Given the description of an element on the screen output the (x, y) to click on. 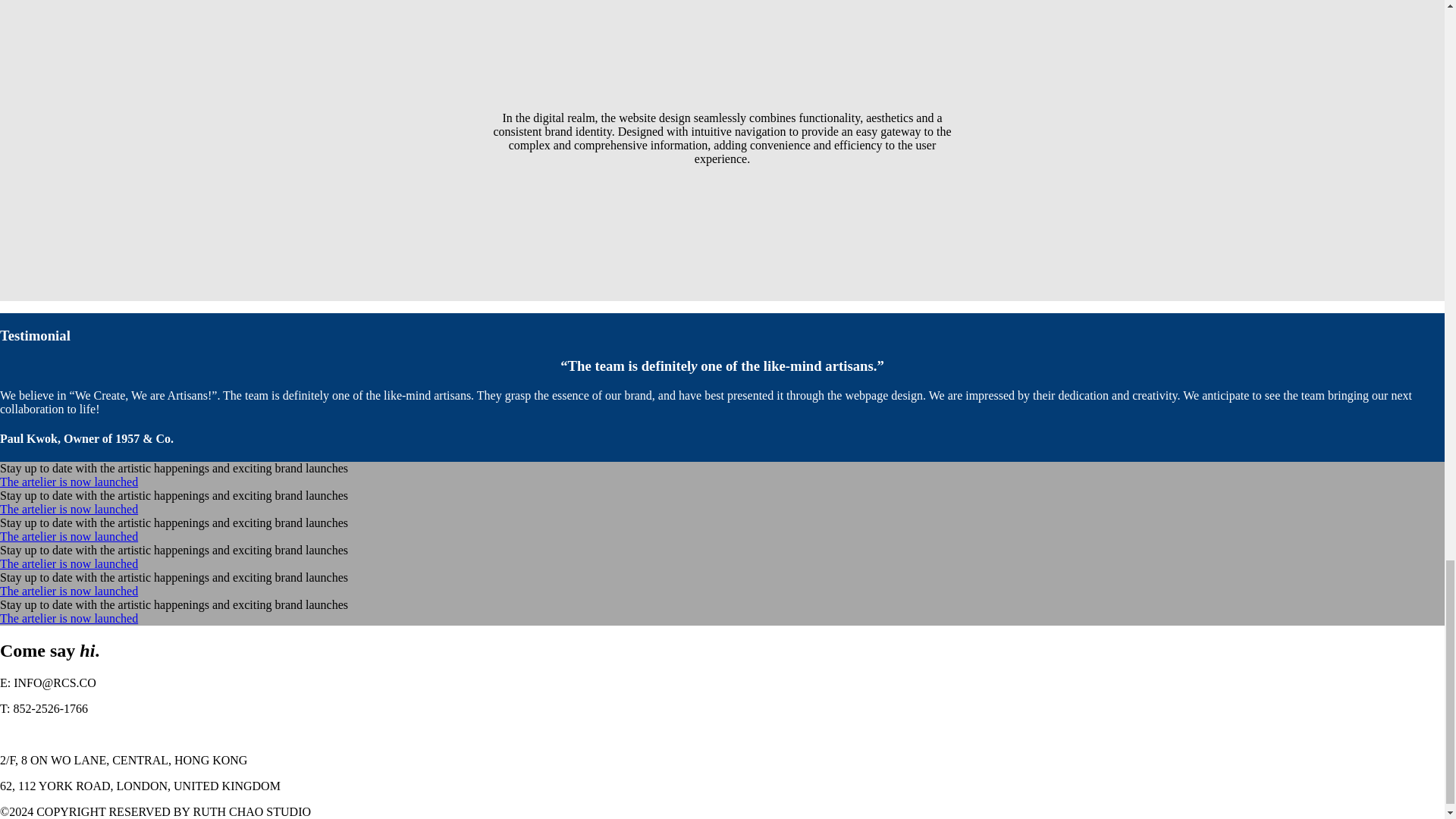
The artelier is now launched (69, 481)
The artelier is now launched (69, 535)
The artelier is now launched (69, 508)
The artelier is now launched (69, 617)
The artelier is now launched (69, 590)
The artelier is now launched (69, 563)
